Given the description of an element on the screen output the (x, y) to click on. 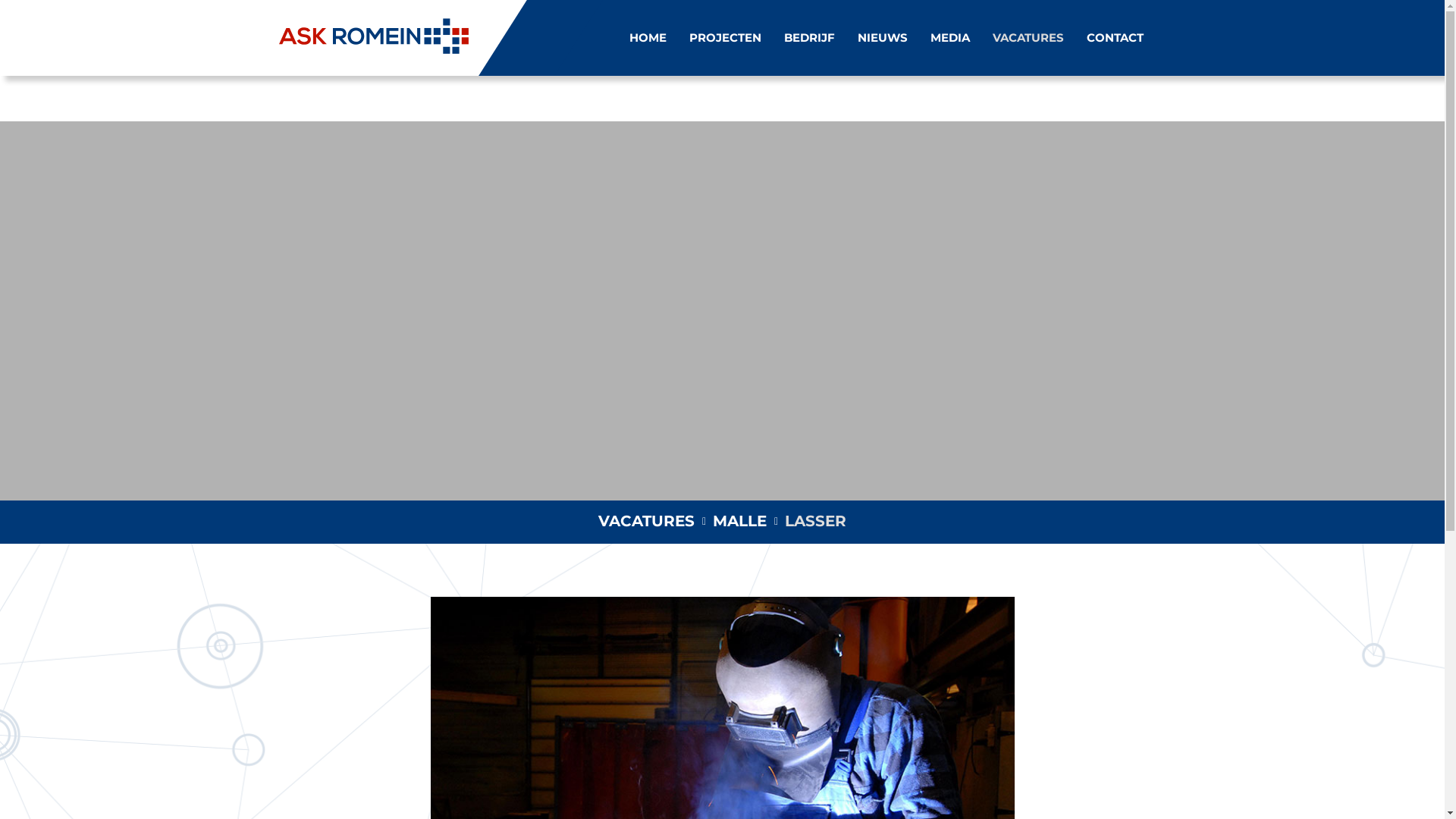
MEDIA Element type: text (949, 37)
VACATURES Element type: text (1027, 37)
NIEUWS Element type: text (881, 37)
PROJECTEN Element type: text (724, 37)
CONTACT Element type: text (1113, 37)
BEDRIJF Element type: text (809, 37)
MALLE Element type: text (739, 520)
VACATURES Element type: text (646, 520)
HOME Element type: text (647, 37)
LASSER Element type: text (815, 520)
